Given the description of an element on the screen output the (x, y) to click on. 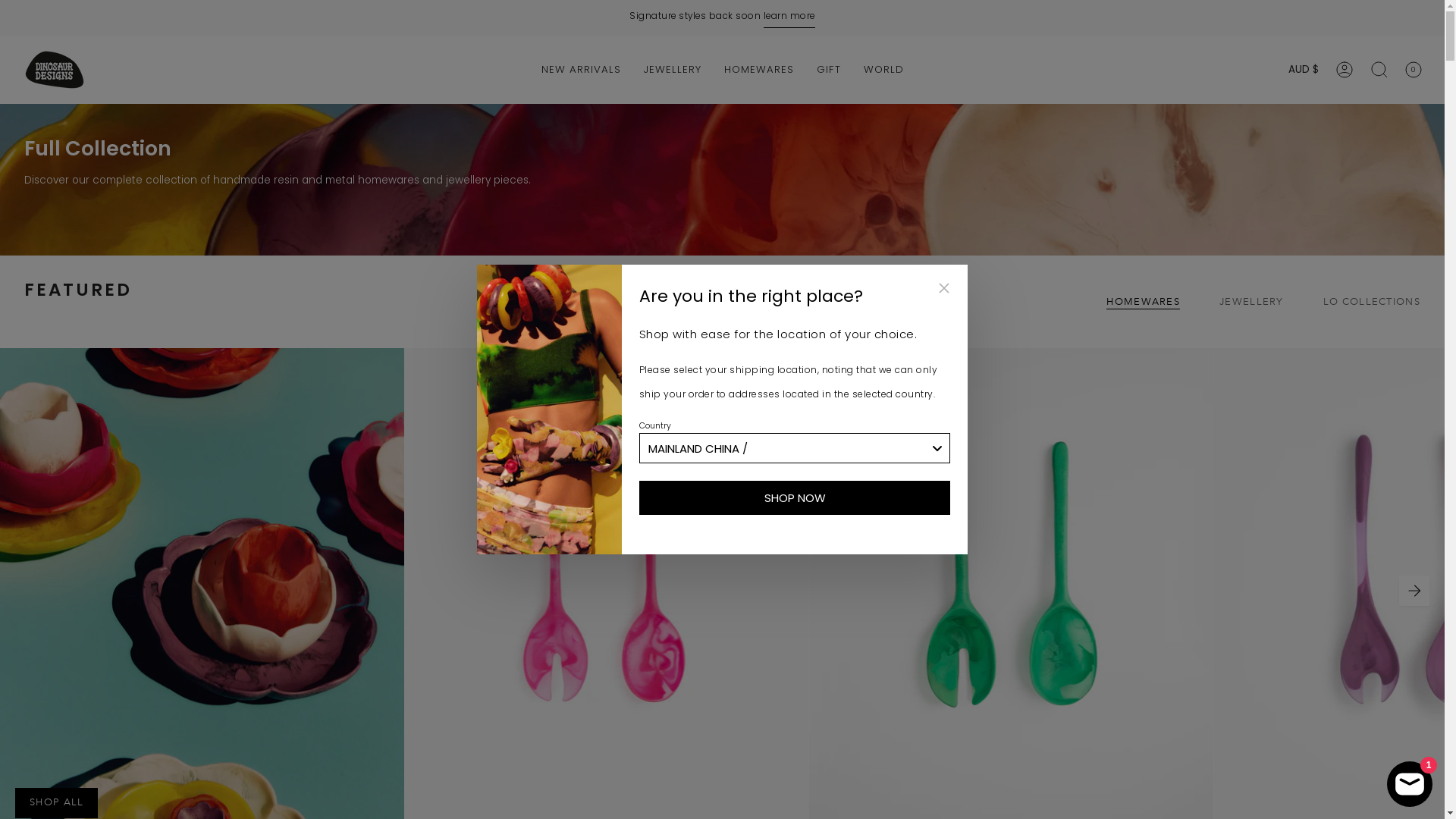
Shopify online store chat Element type: hover (1409, 780)
JEWELLERY Element type: text (672, 69)
Account Element type: text (1344, 69)
SHOP NOW Element type: text (794, 497)
Cart
0 Element type: text (1412, 69)
AUD $ Element type: text (1303, 69)
WORLD Element type: text (883, 69)
HOMEWARES Element type: text (758, 69)
NEW ARRIVALS Element type: text (580, 69)
GIFT Element type: text (828, 69)
SHOP ALL Element type: text (56, 802)
